Given the description of an element on the screen output the (x, y) to click on. 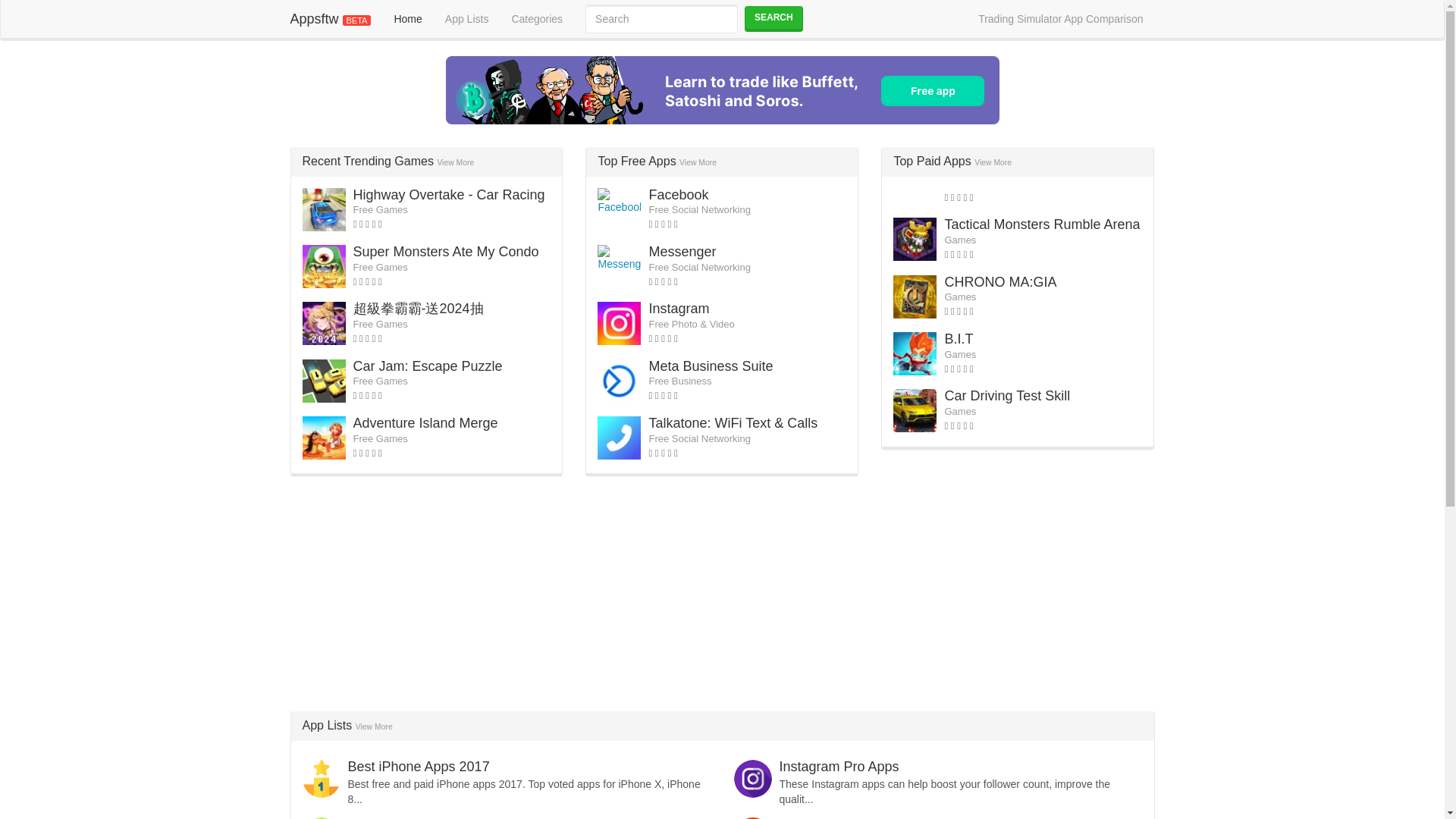
Stock Market Game - Trading Simulator (721, 90)
Facebook (677, 194)
View Messenger (681, 251)
View Adventure Island Merge (425, 422)
View B.I.T (957, 338)
Messenger (681, 251)
View Car Jam: Escape Puzzle (427, 365)
View CHRONO MA:GIA (1000, 281)
App Lists (466, 18)
SEARCH (773, 18)
Top Free Apps View More (656, 160)
Meta Business Suite (710, 365)
View Meta Business Suite (710, 365)
Top Paid Apps View More (952, 160)
View Car Driving Test Skill (1006, 395)
